Given the description of an element on the screen output the (x, y) to click on. 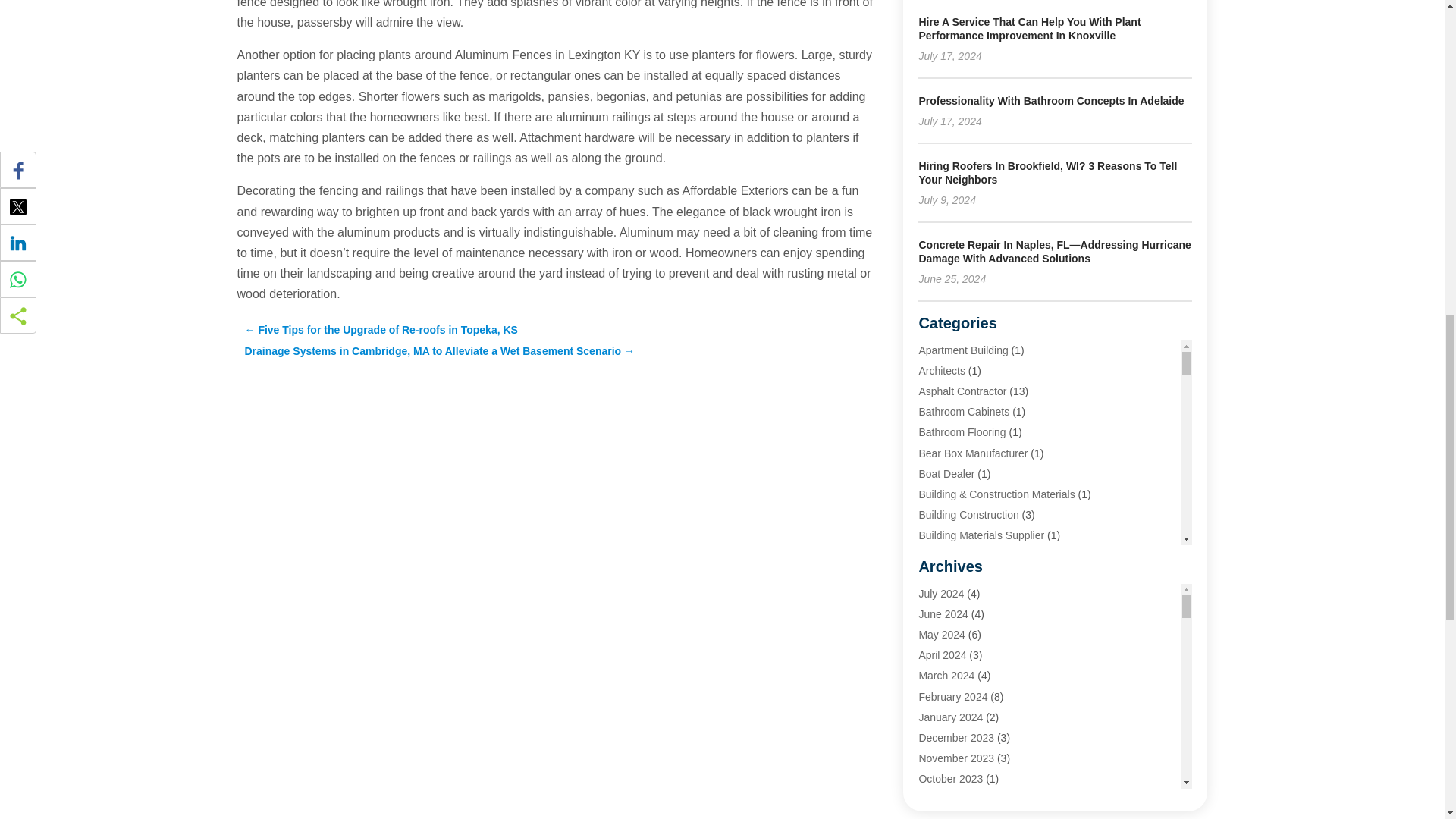
Asphalt Contractor (962, 390)
Bathroom Cabinets (963, 411)
Cemetery (940, 556)
Cleaning (938, 597)
Building Materials Supplier (980, 535)
Architects (940, 370)
Concrete Contractor (965, 638)
Bear Box Manufacturer (972, 453)
Bathroom Flooring (962, 431)
Building Construction (967, 514)
Boat Dealer (946, 473)
Professionality With Bathroom Concepts In Adelaide (1050, 101)
Apartment Building (962, 349)
